Given the description of an element on the screen output the (x, y) to click on. 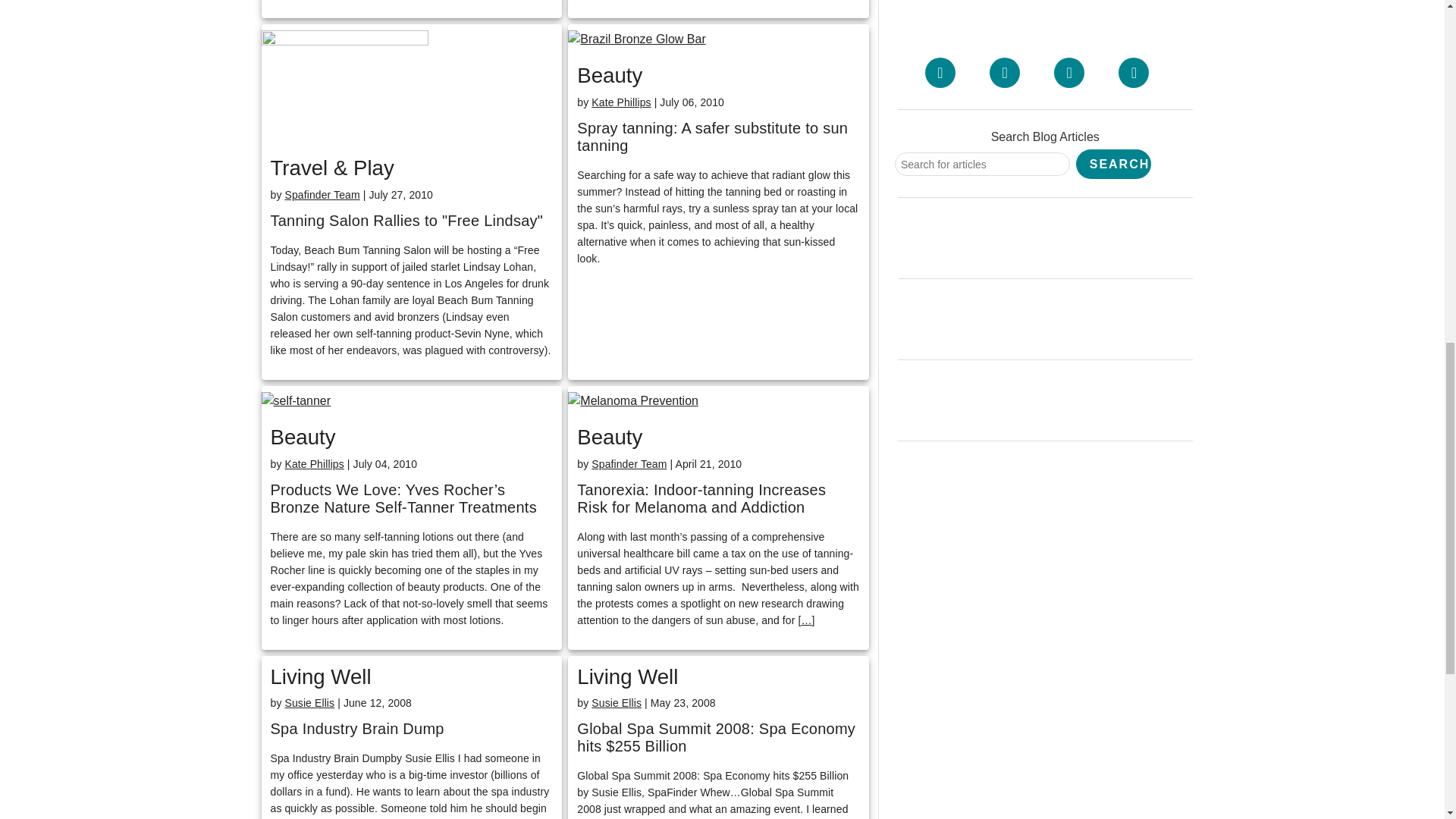
Posts by Susie Ellis (308, 702)
Beauty (301, 436)
Posts by Spafinder Team (628, 463)
Posts by Spafinder Team (321, 194)
Posts by Kate Phillips (313, 463)
Kate Phillips (313, 463)
Spa Industry Brain Dump (356, 728)
Posts by Susie Ellis (616, 702)
Beauty (609, 436)
